Given the description of an element on the screen output the (x, y) to click on. 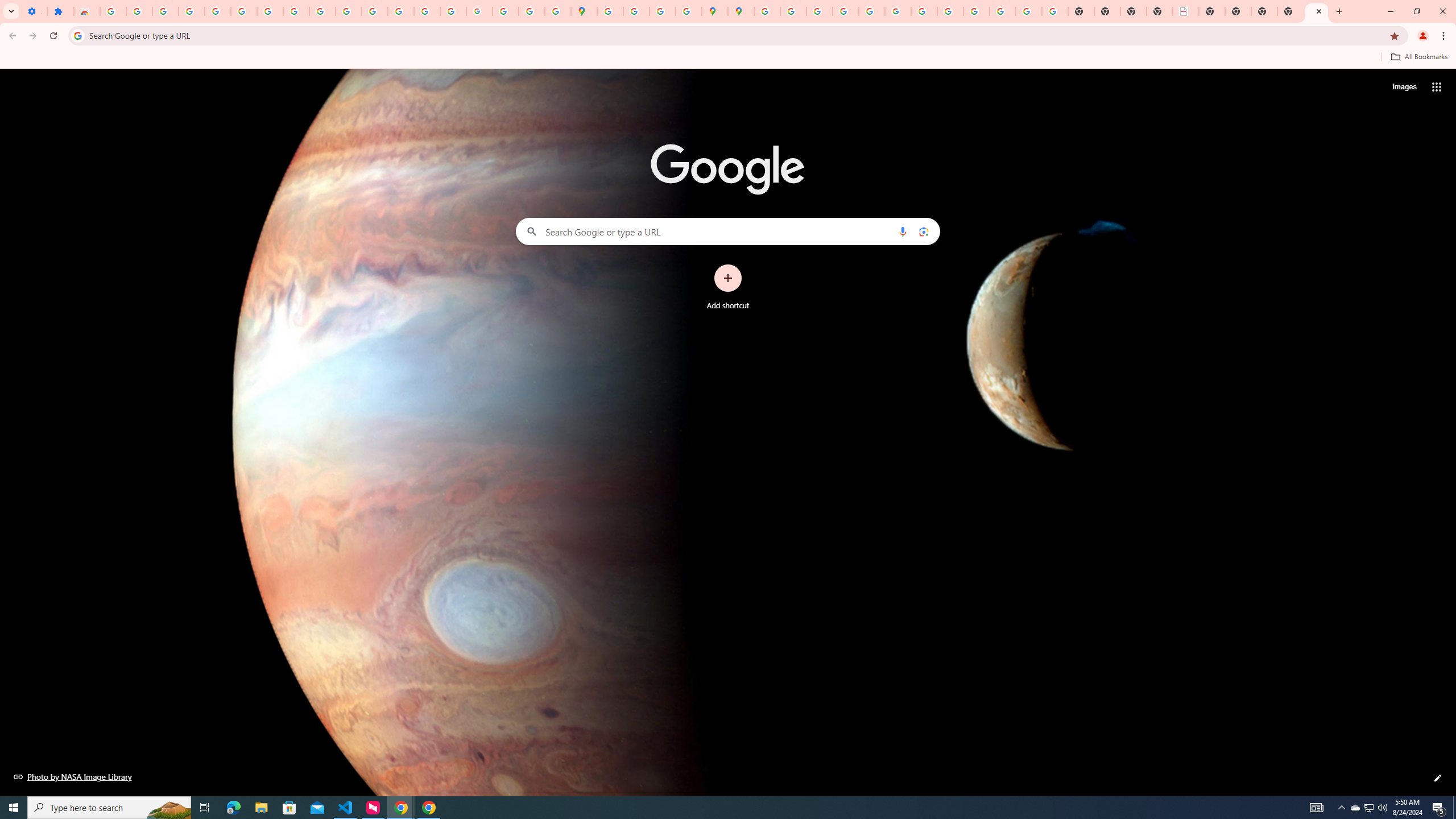
Google Account (296, 11)
Browse Chrome as a guest - Computer - Google Chrome Help (949, 11)
Customize this page (1437, 778)
